Given the description of an element on the screen output the (x, y) to click on. 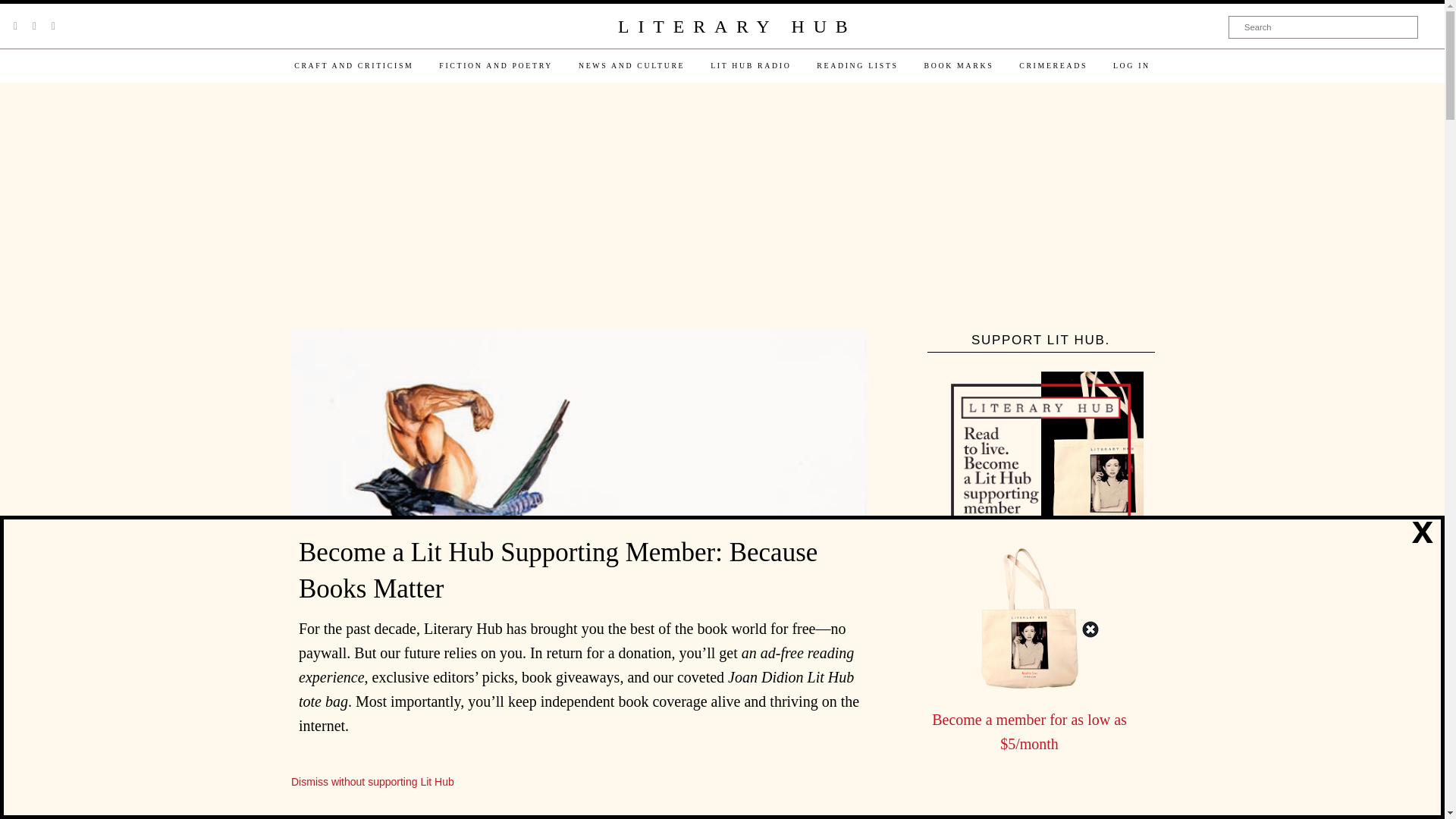
Search (1323, 26)
FICTION AND POETRY (496, 65)
3rd party ad content (721, 207)
CRAFT AND CRITICISM (353, 65)
NEWS AND CULTURE (631, 65)
LITERARY HUB (736, 26)
Support Lit Hub. (1040, 473)
